Given the description of an element on the screen output the (x, y) to click on. 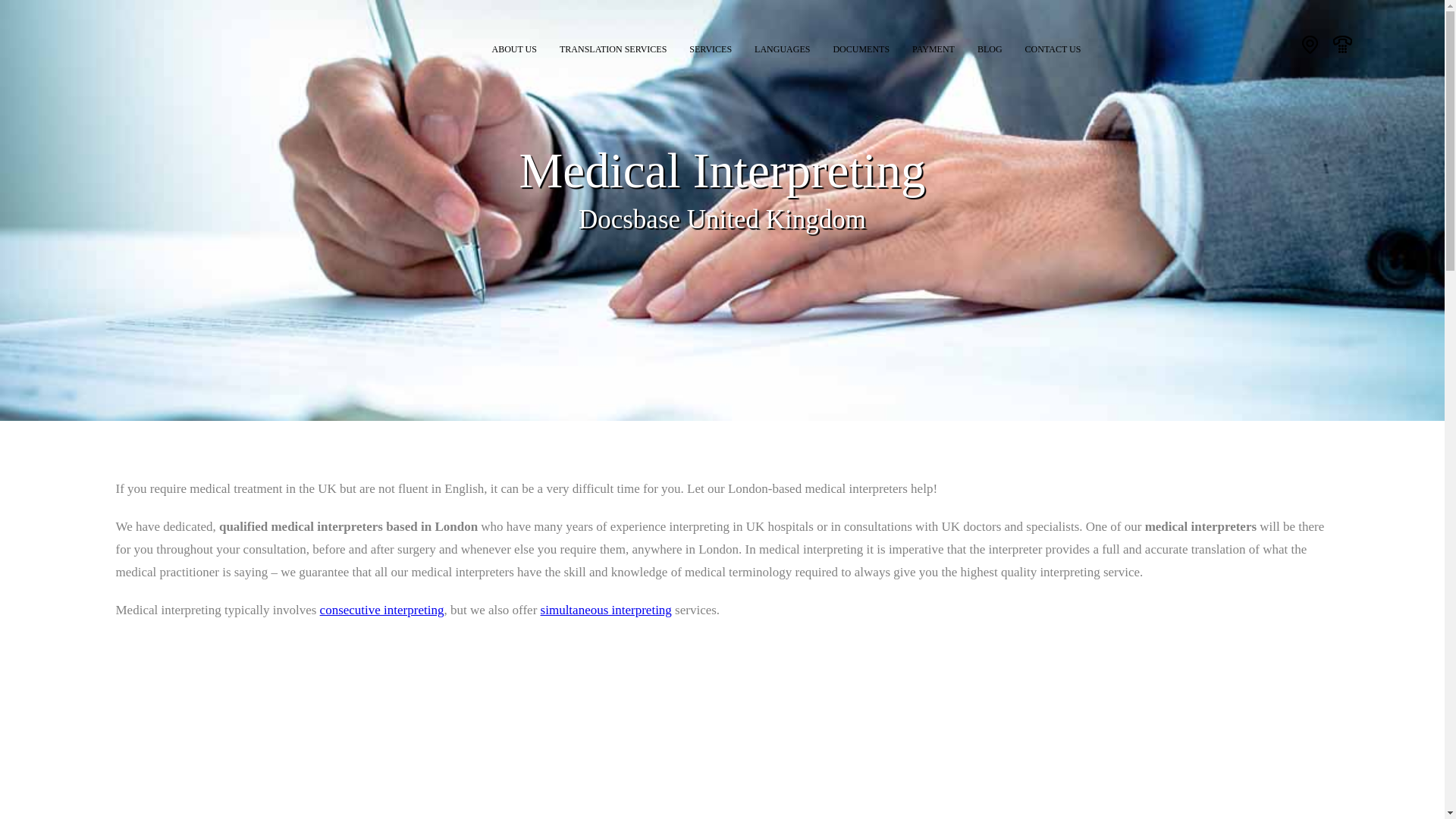
ABOUT US (514, 46)
About Us (514, 46)
TRANSLATION SERVICES (613, 46)
